Given the description of an element on the screen output the (x, y) to click on. 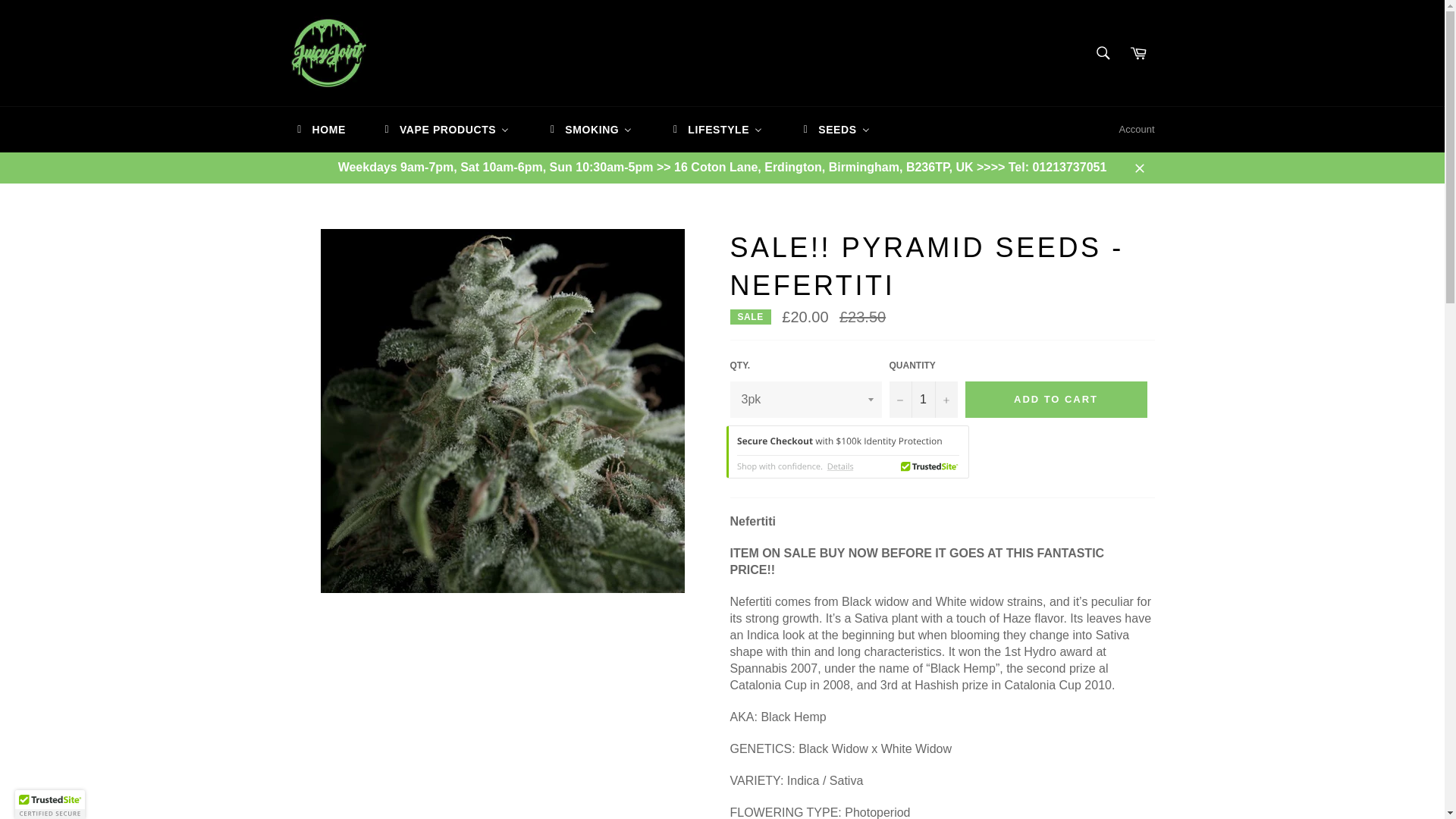
1 (922, 399)
TrustedSite Certified (847, 451)
